Given the description of an element on the screen output the (x, y) to click on. 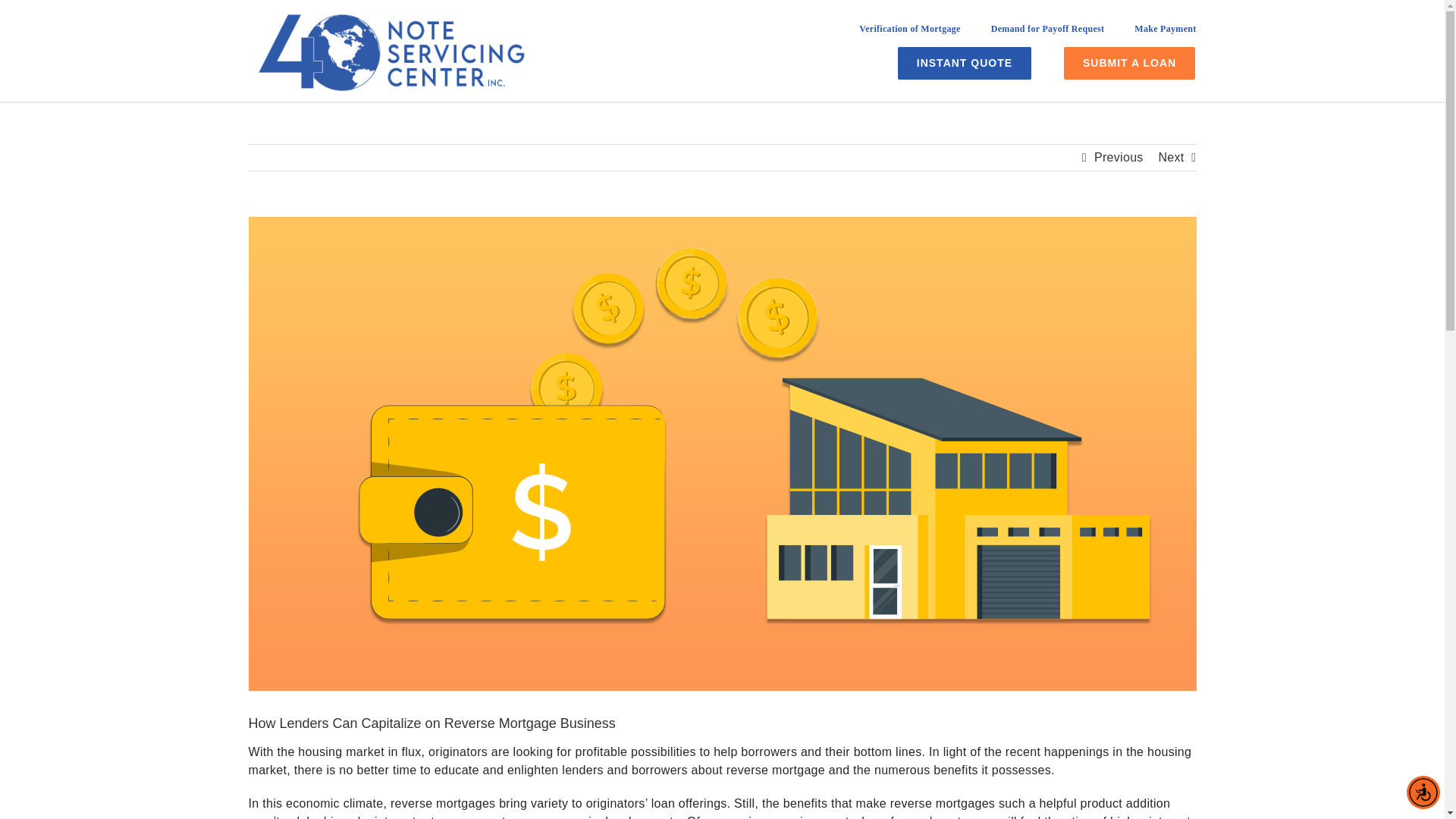
INSTANT QUOTE (964, 62)
Demand for Payoff Request (1048, 34)
SUBMIT A LOAN (1129, 62)
Previous (1118, 157)
Next (1170, 157)
Verification of Mortgage (909, 34)
Accessibility Menu (1422, 792)
Make Payment (1164, 34)
